Given the description of an element on the screen output the (x, y) to click on. 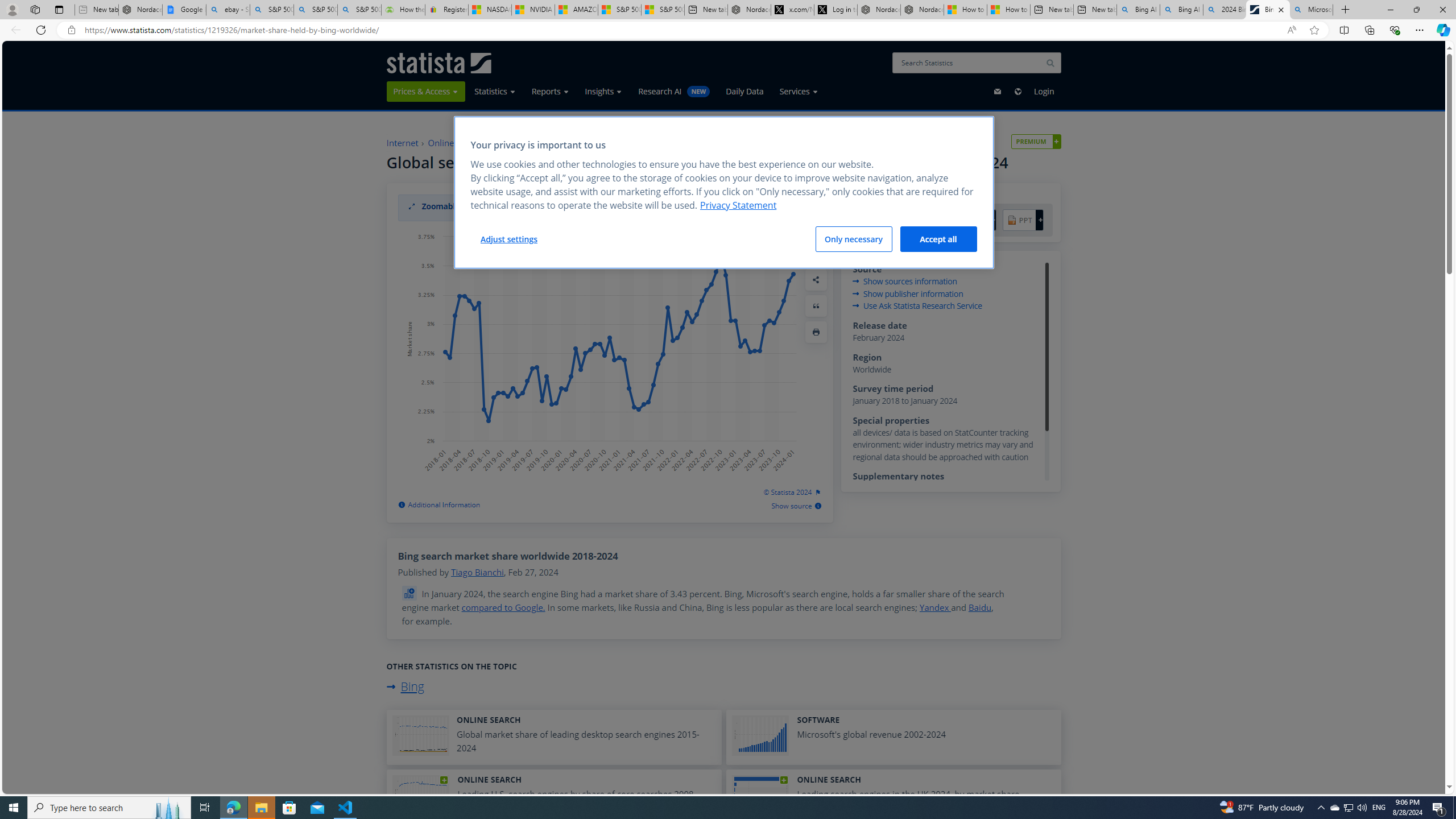
Bing search market share worldwide 2024 | Statista (1267, 9)
Statistics (494, 91)
Research AI (674, 91)
How to Use a Monitor With Your Closed Laptop (1008, 9)
Class: navMain__item navMain__item--responsiveEn (1017, 91)
S&P 500 index financial crisis decline - Search (359, 9)
Internet (402, 142)
Reports (549, 91)
Online Search (455, 142)
App bar (728, 29)
